Given the description of an element on the screen output the (x, y) to click on. 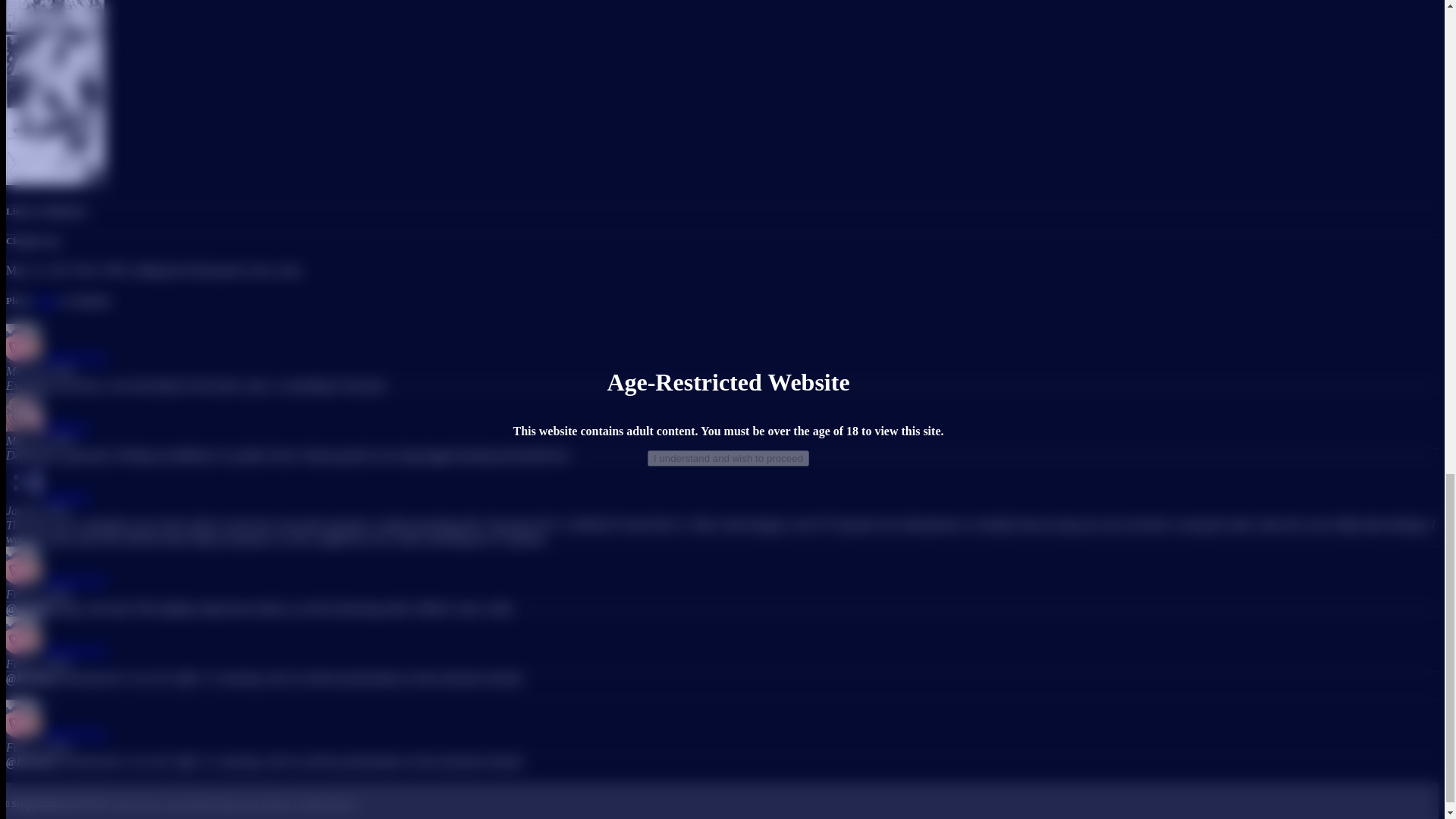
Hammer (46, 496)
Patreon (274, 803)
Buckley555 (54, 357)
About (121, 803)
login (45, 300)
oldslim1 (46, 427)
Sleepycomics.com was founded on June 20, 2006. (54, 803)
Terms (148, 803)
About Sleepycomics.com (121, 803)
red at sleepycomics.com (209, 803)
Buckley555 (54, 733)
Support me on Patreon (274, 803)
Terms of service (148, 803)
Follow me on Twitter! (323, 803)
Buckley555 (54, 580)
